Given the description of an element on the screen output the (x, y) to click on. 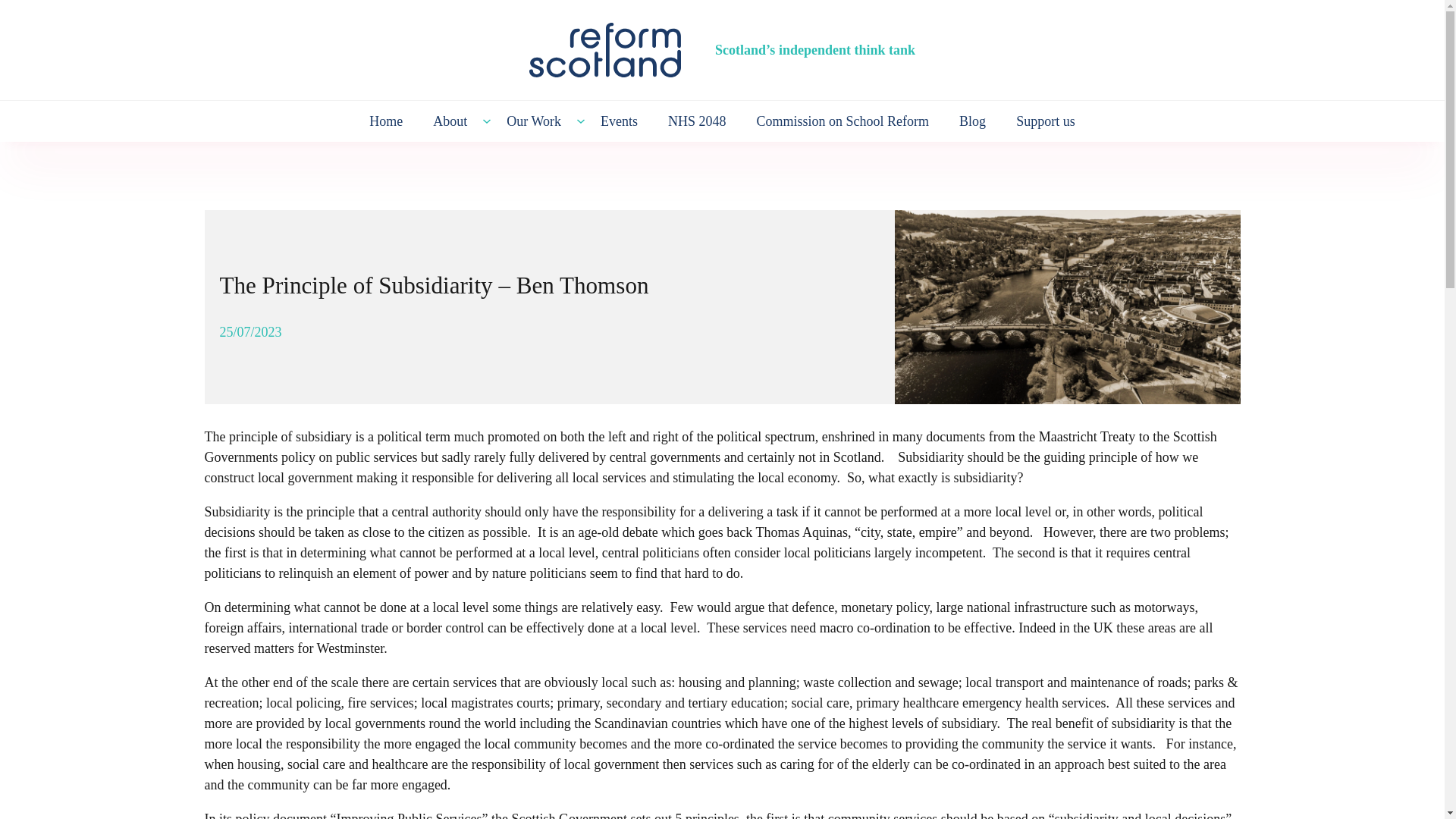
Home (385, 120)
Blog (972, 120)
NHS 2048 (696, 120)
About (449, 120)
Events (618, 120)
Commission on School Reform (842, 120)
Support us (1045, 120)
Our Work (534, 120)
